Given the description of an element on the screen output the (x, y) to click on. 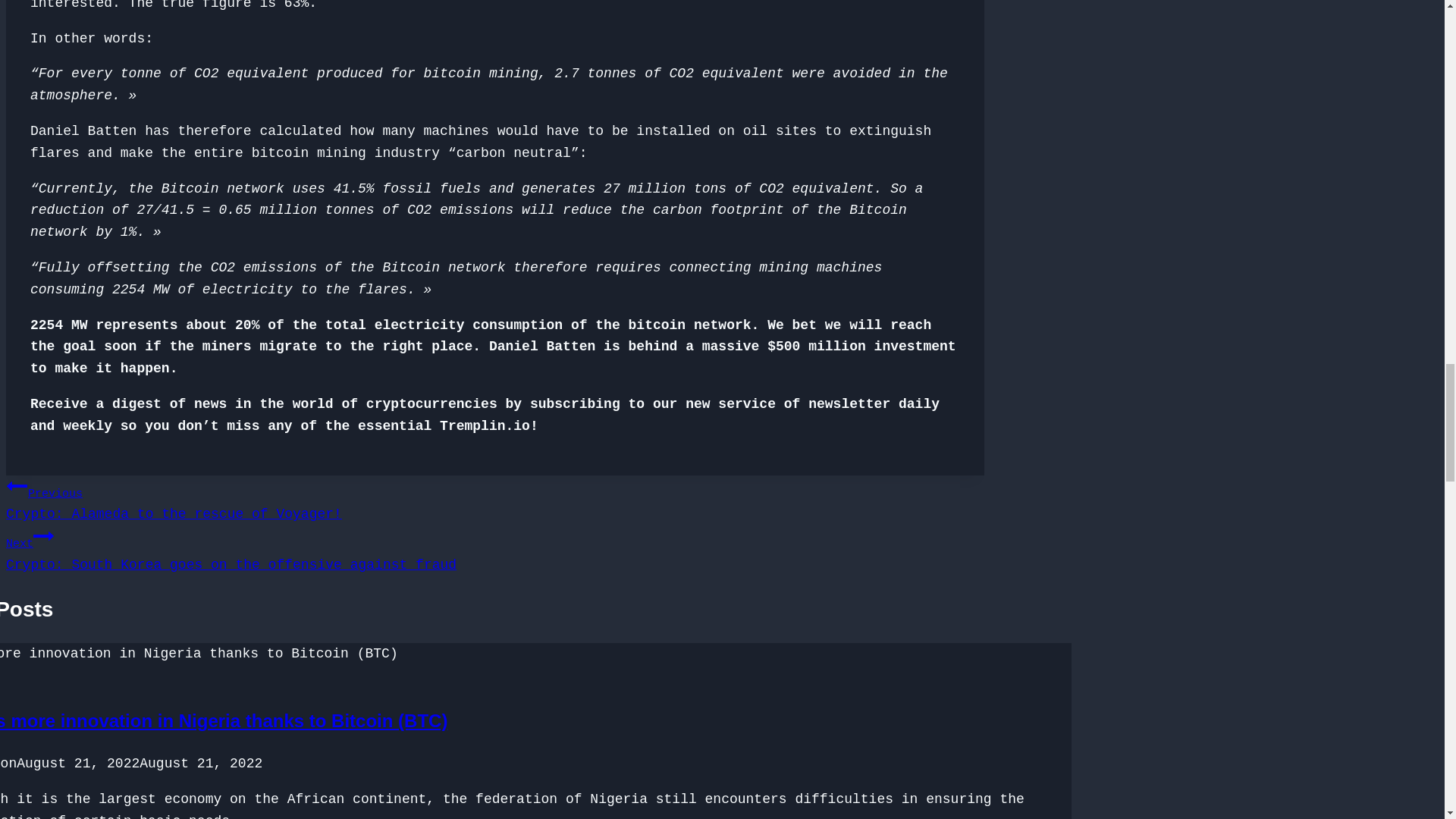
Continue (494, 498)
Previous (43, 536)
